Given the description of an element on the screen output the (x, y) to click on. 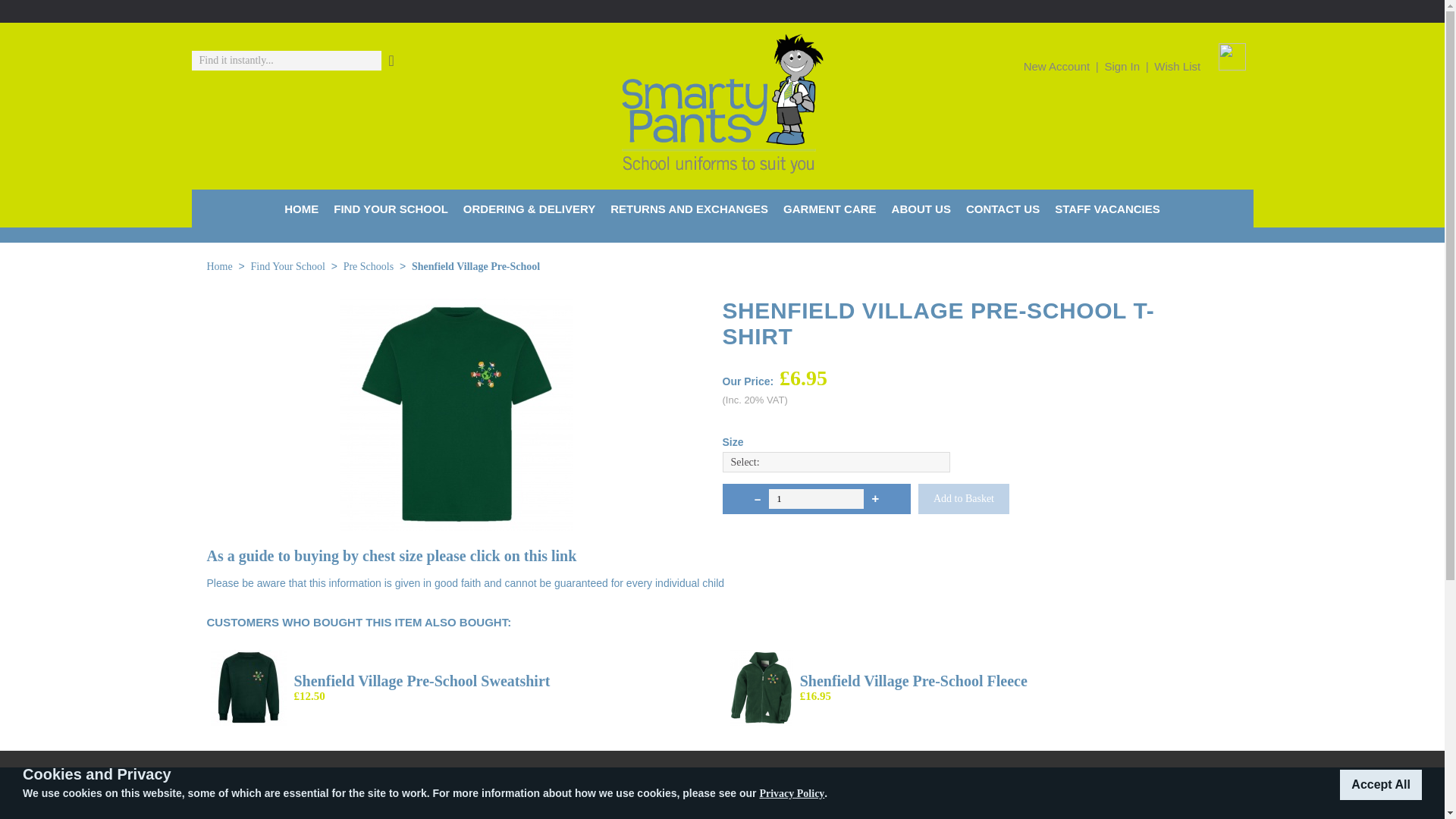
CONTACT US (1002, 207)
Pre Schools (368, 266)
Zoom (456, 414)
HOME (300, 207)
New Account (1056, 65)
ABOUT US (920, 207)
Shenfield Village Pre-School T-shirt (456, 524)
Wish List (1176, 65)
STAFF VACANCIES (1107, 207)
Shenfield Village Pre-School Sweatshirt (422, 680)
Add to Basket (963, 499)
Privacy Policy (791, 793)
1 (815, 498)
Home (218, 266)
FIND YOUR SCHOOL (390, 207)
